Given the description of an element on the screen output the (x, y) to click on. 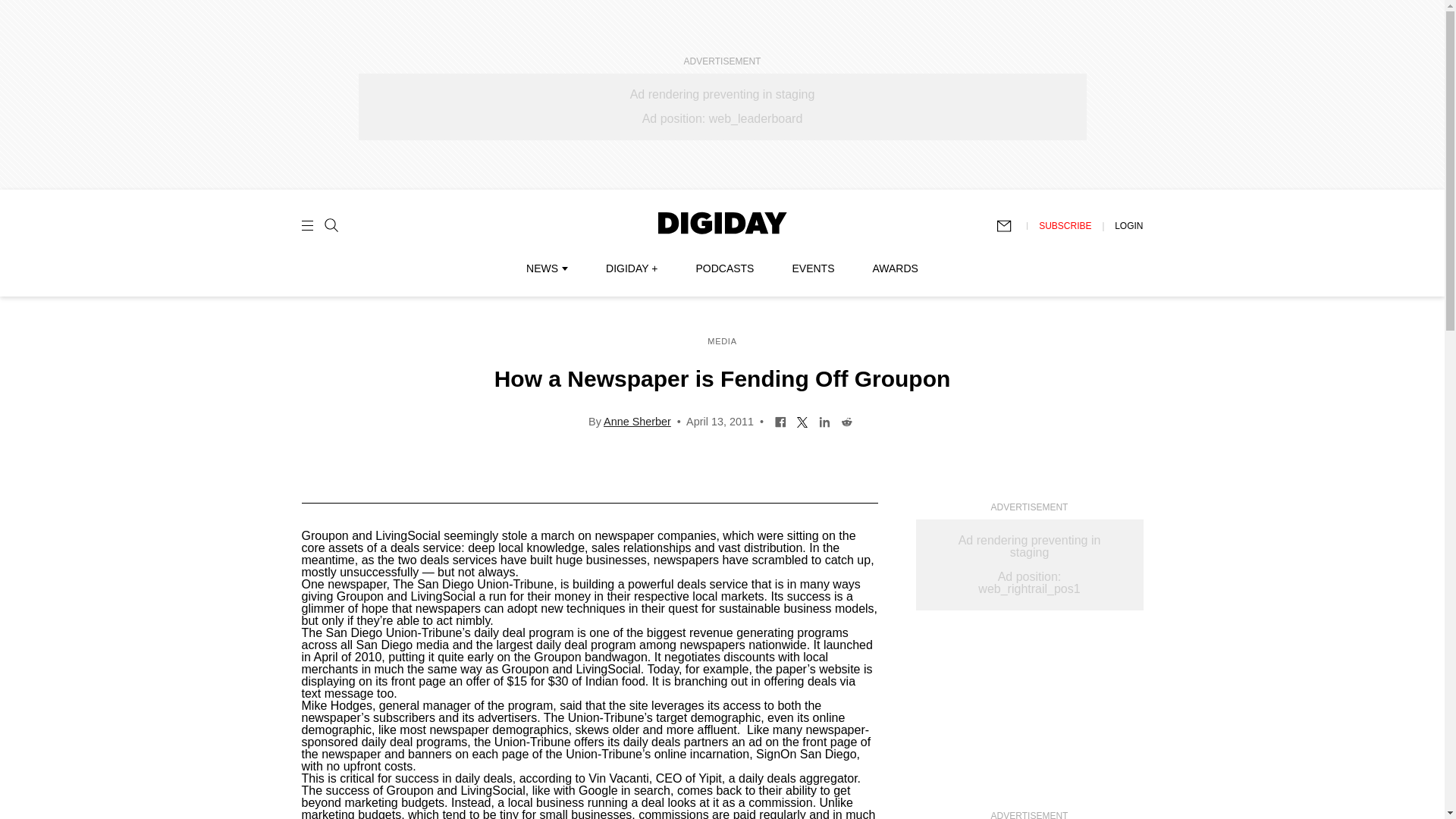
Subscribe (1010, 225)
NEWS (546, 267)
AWARDS (894, 267)
LOGIN (1128, 225)
SUBSCRIBE (1064, 225)
Share on Twitter (802, 420)
Share on LinkedIn (824, 420)
Share on Facebook (780, 420)
EVENTS (813, 267)
Share on Reddit (846, 420)
